Given the description of an element on the screen output the (x, y) to click on. 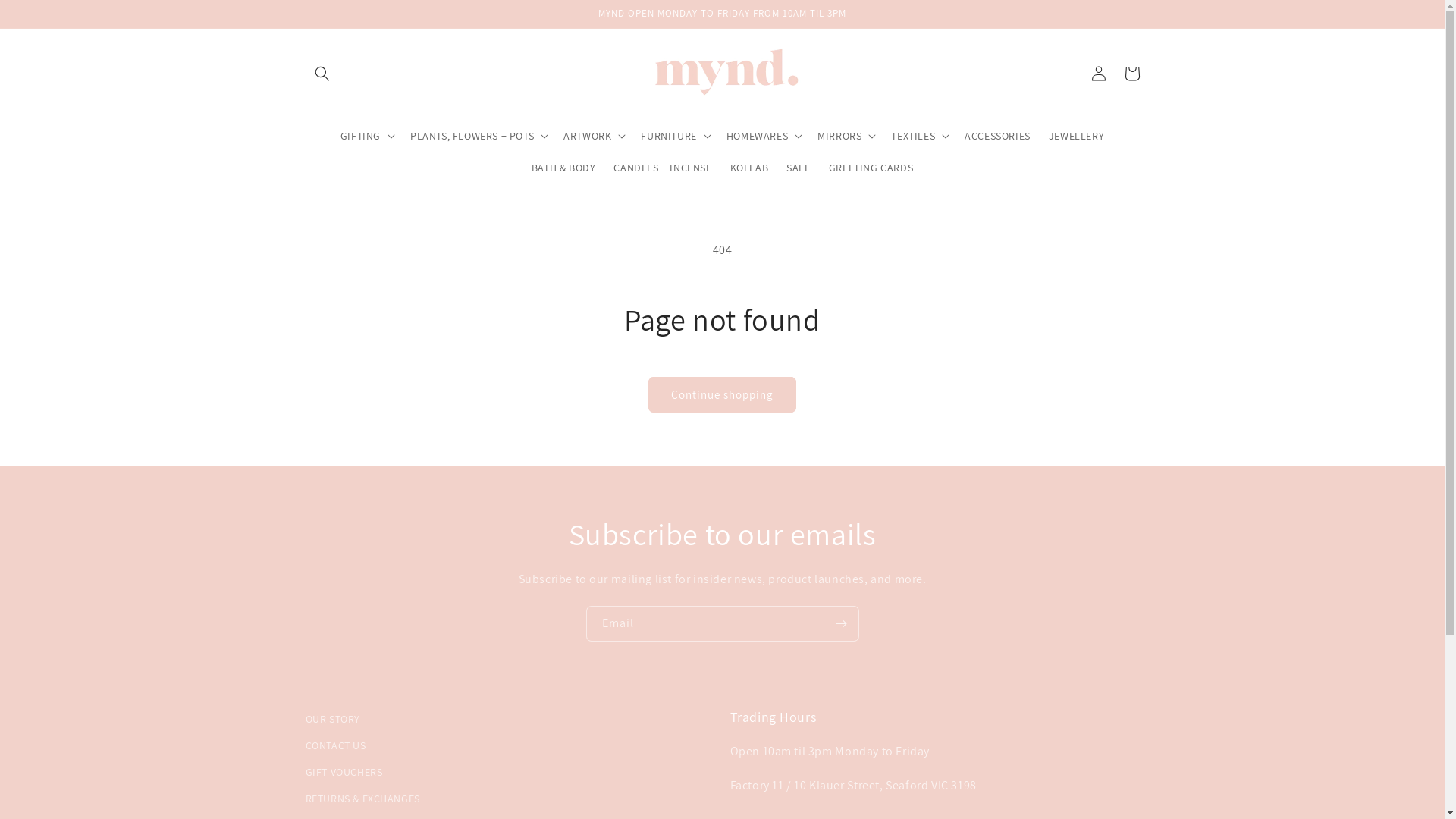
RETURNS & EXCHANGES Element type: text (361, 798)
BATH & BODY Element type: text (563, 167)
ACCESSORIES Element type: text (997, 135)
KOLLAB Element type: text (749, 167)
GREETING CARDS Element type: text (870, 167)
Continue shopping Element type: text (722, 394)
GIFT VOUCHERS Element type: text (343, 772)
JEWELLERY Element type: text (1076, 135)
OUR STORY Element type: text (331, 720)
Log in Element type: text (1097, 73)
SALE Element type: text (798, 167)
Cart Element type: text (1131, 73)
CANDLES + INCENSE Element type: text (662, 167)
CONTACT US Element type: text (334, 745)
